Given the description of an element on the screen output the (x, y) to click on. 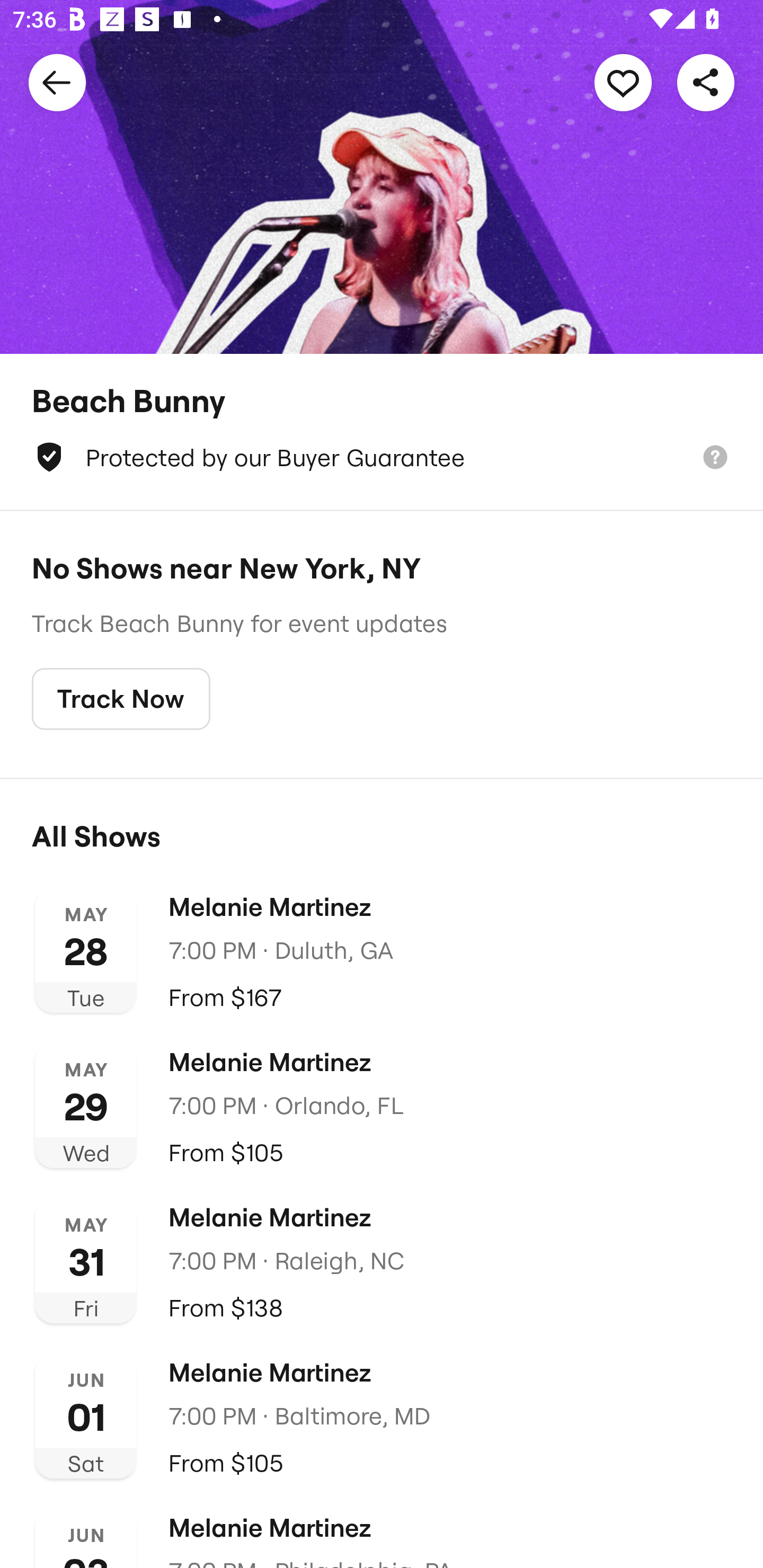
Back (57, 81)
Track this performer (623, 81)
Share this performer (705, 81)
Protected by our Buyer Guarantee Learn more (381, 456)
Track Now (121, 699)
